Given the description of an element on the screen output the (x, y) to click on. 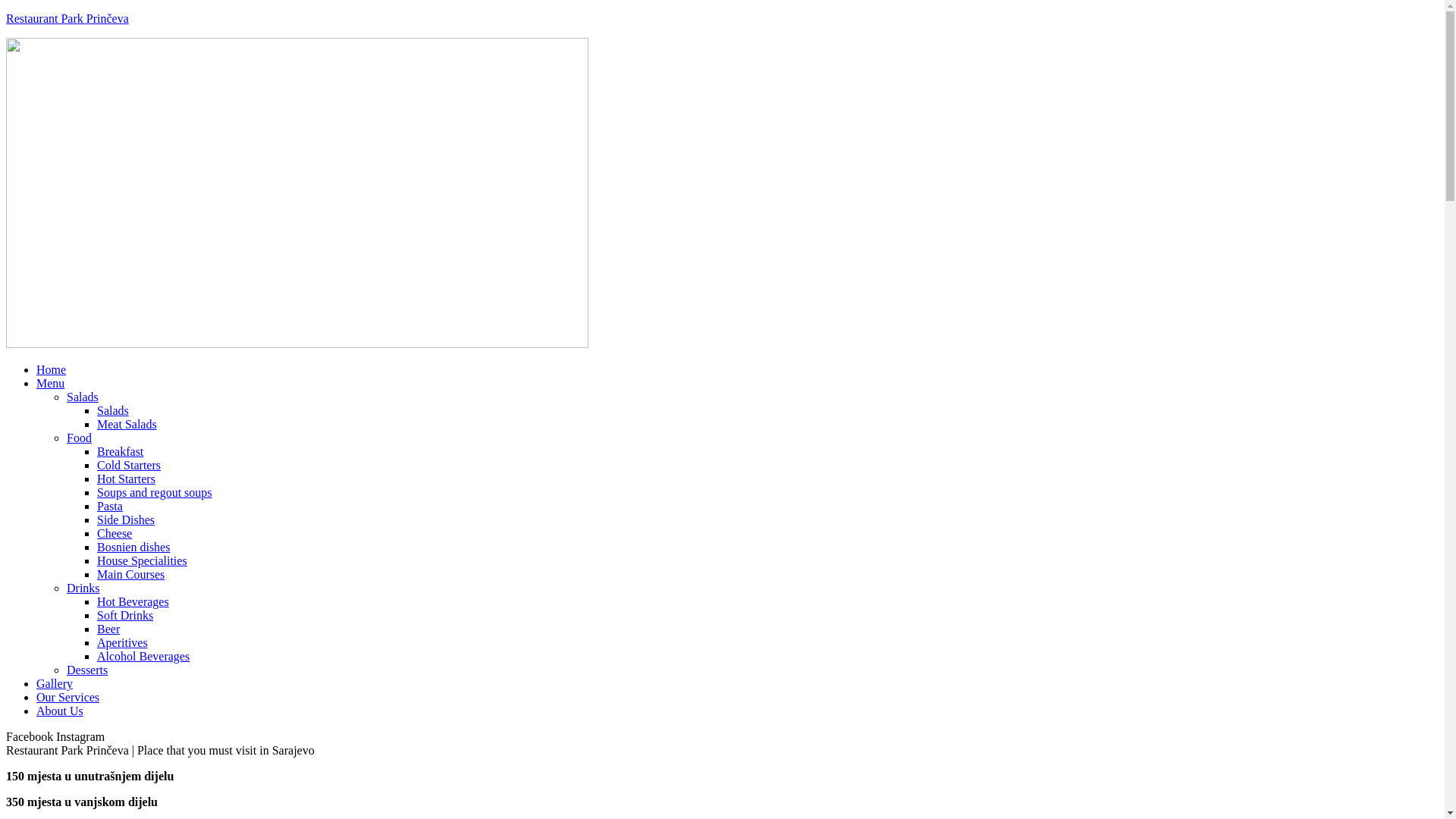
Main Courses Element type: text (130, 573)
Alcohol Beverages Element type: text (143, 655)
Beer Element type: text (108, 628)
Hot Beverages Element type: text (133, 601)
Side Dishes Element type: text (125, 519)
Desserts Element type: text (86, 669)
Home Element type: text (50, 369)
Salads Element type: text (82, 396)
Bosnien dishes Element type: text (133, 546)
Gallery Element type: text (54, 683)
Menu Element type: text (50, 382)
Drinks Element type: text (83, 587)
Our Services Element type: text (67, 696)
Facebook Element type: text (31, 736)
Hot Starters Element type: text (126, 478)
About Us Element type: text (59, 710)
Aperitives Element type: text (122, 642)
Salads Element type: text (112, 410)
Breakfast Element type: text (120, 451)
Pasta Element type: text (109, 505)
Cheese Element type: text (114, 533)
Instagram Element type: text (80, 736)
Soft Drinks Element type: text (125, 614)
Food Element type: text (78, 437)
Meat Salads Element type: text (126, 423)
Cold Starters Element type: text (128, 464)
House Specialities Element type: text (142, 560)
Soups and regout soups Element type: text (154, 492)
